Given the description of an element on the screen output the (x, y) to click on. 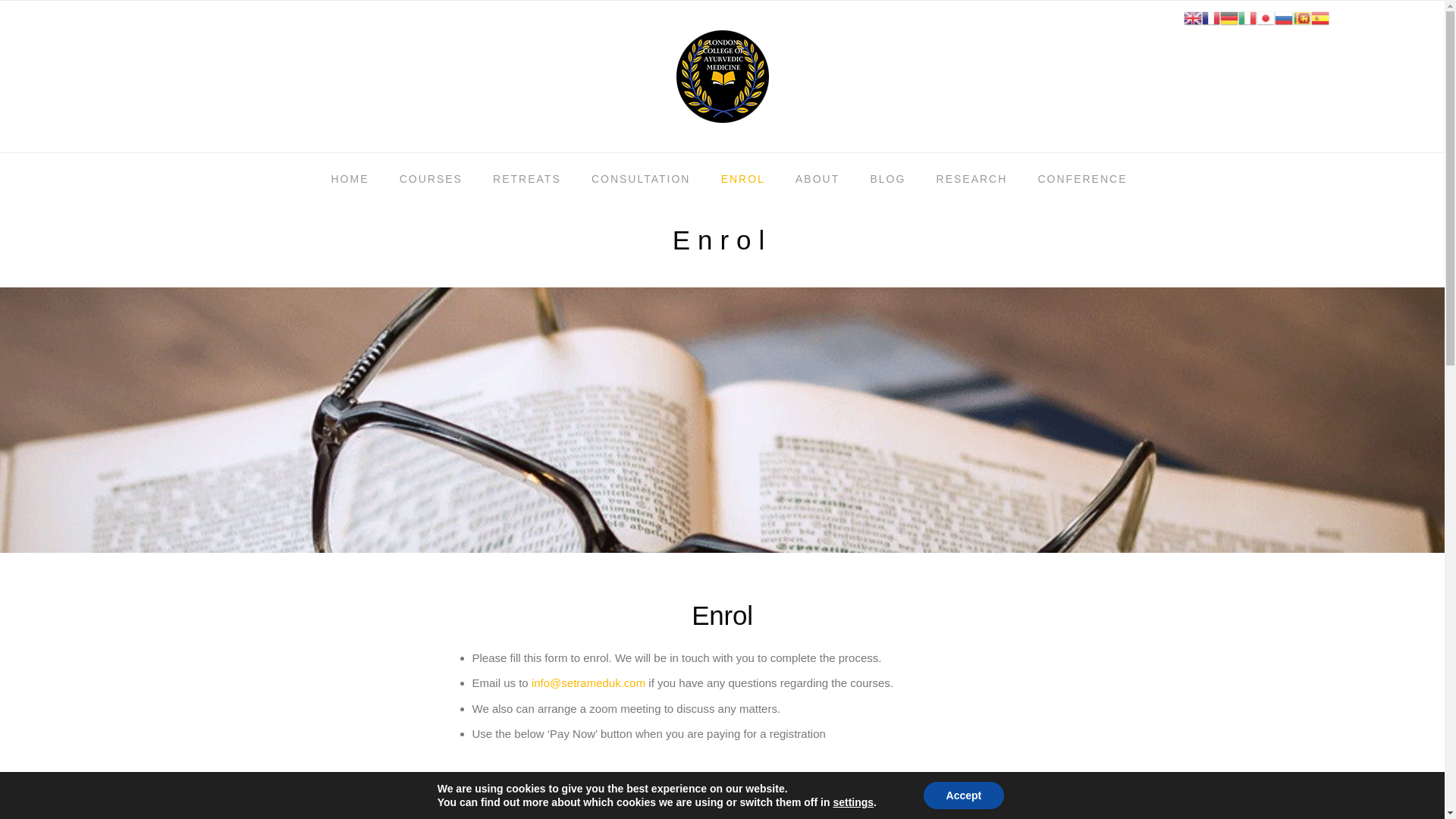
German (1229, 16)
Spanish (1320, 16)
BLOG (887, 180)
CONSULTATION (641, 180)
English (1192, 16)
Setramed UK (721, 74)
CONFERENCE (1074, 180)
COURSES (430, 180)
RESEARCH (972, 180)
Russian (1283, 16)
ENROL (742, 180)
RETREATS (527, 180)
ABOUT (817, 180)
Japanese (1265, 16)
Sinhala (1301, 16)
